Given the description of an element on the screen output the (x, y) to click on. 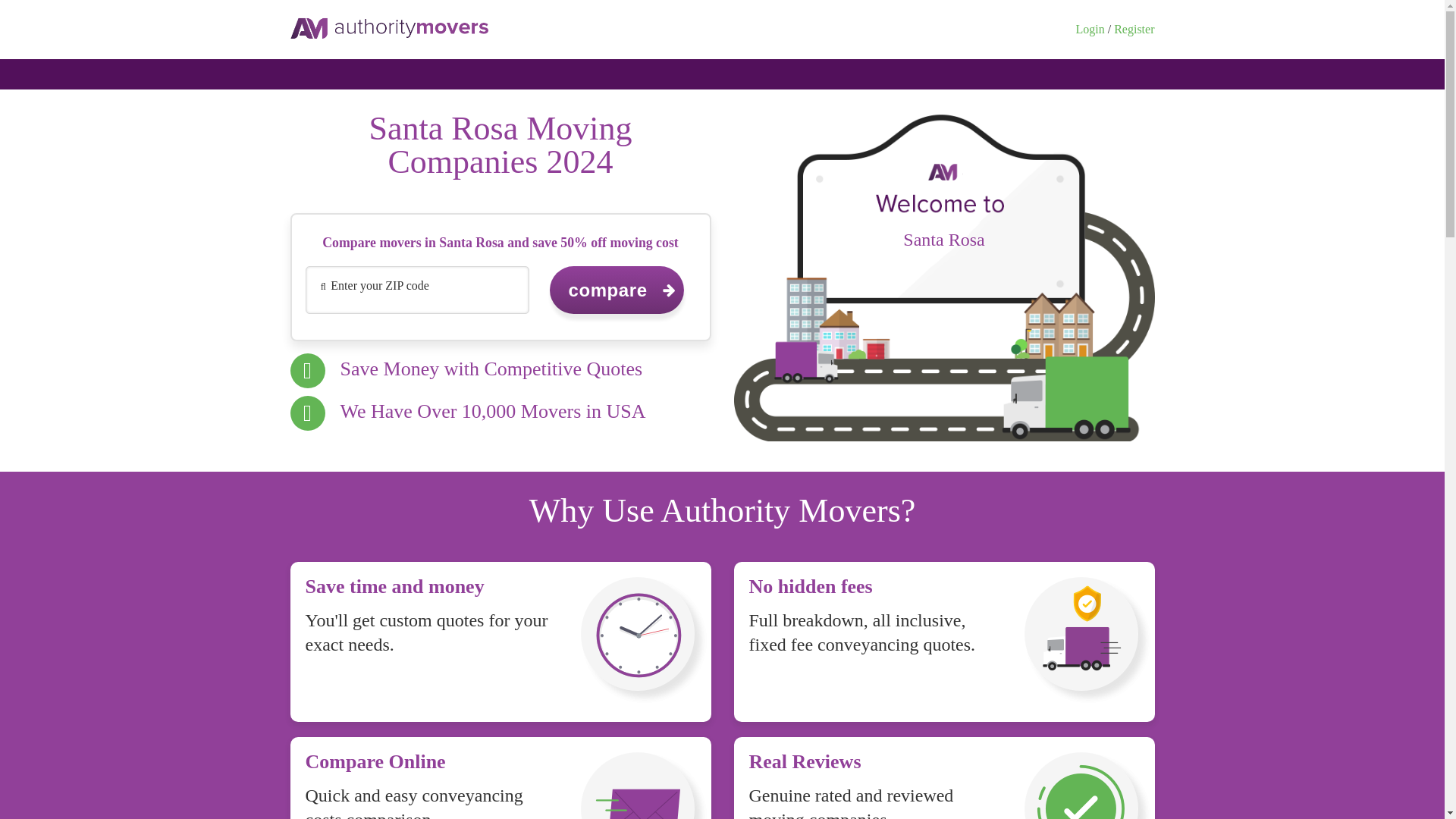
Login (1089, 29)
compare (616, 290)
Register (1133, 29)
